Given the description of an element on the screen output the (x, y) to click on. 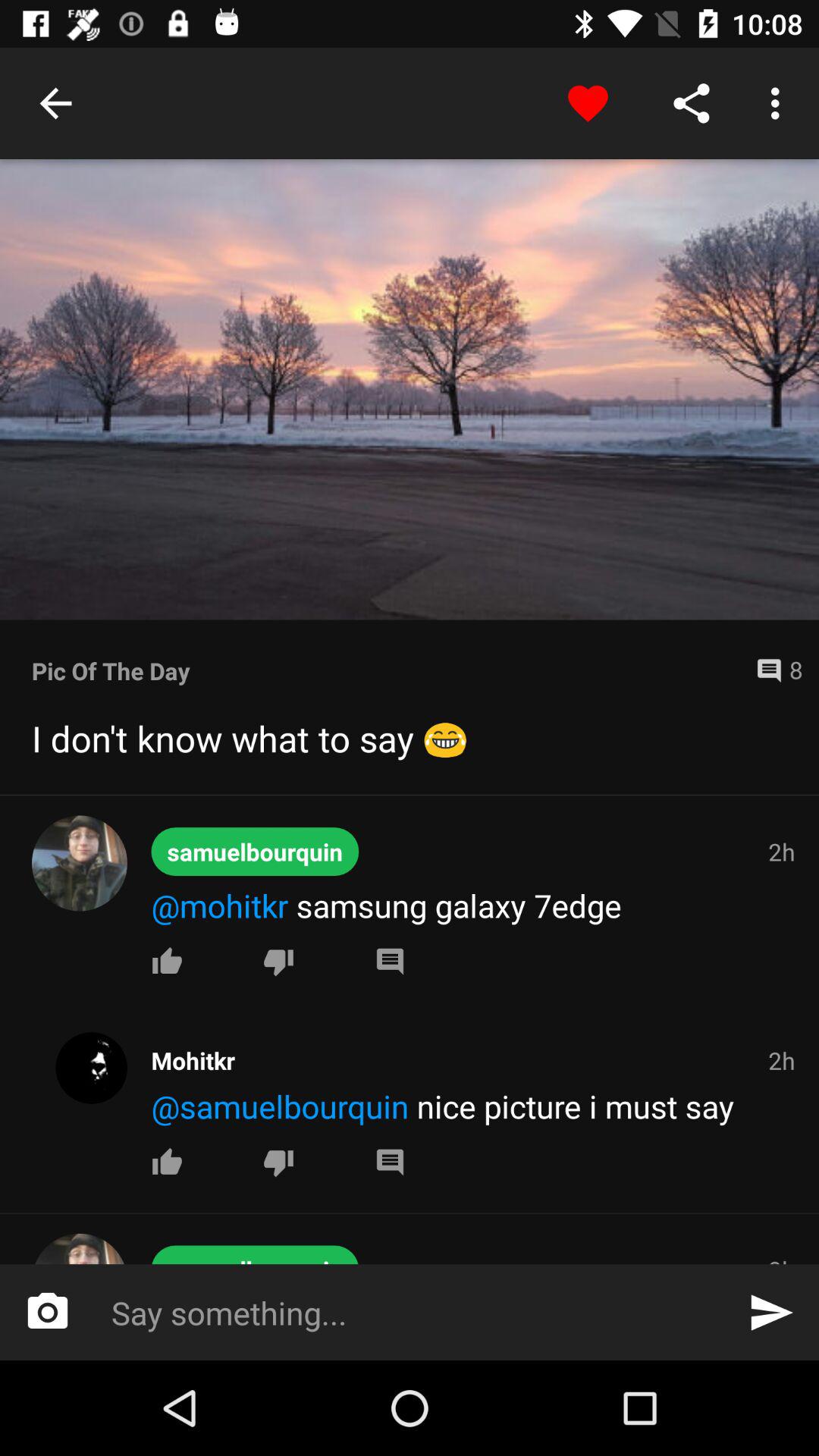
click pic of the item (387, 670)
